Given the description of an element on the screen output the (x, y) to click on. 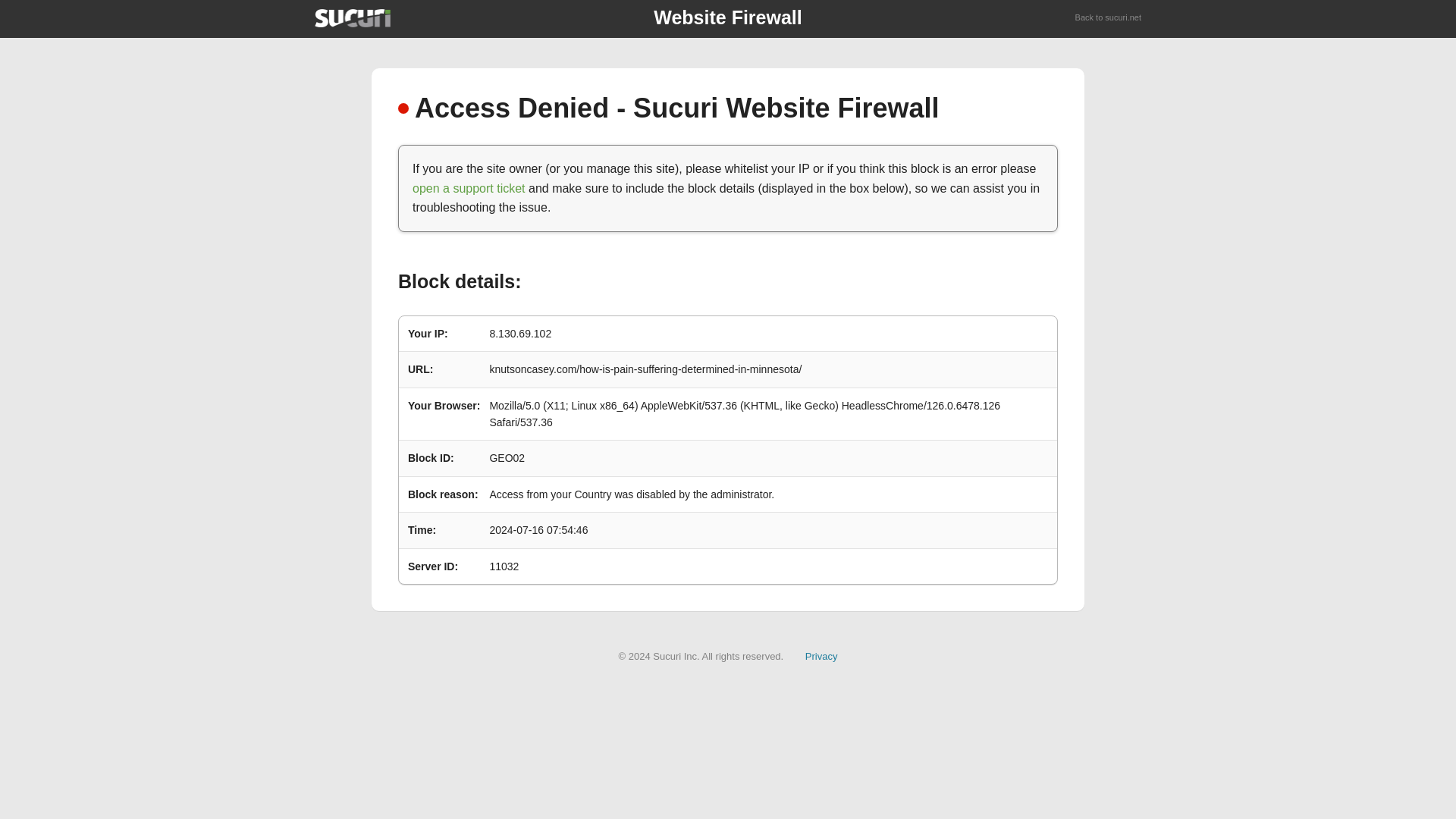
open a support ticket (468, 187)
Privacy (821, 655)
Back to sucuri.net (1108, 18)
